Given the description of an element on the screen output the (x, y) to click on. 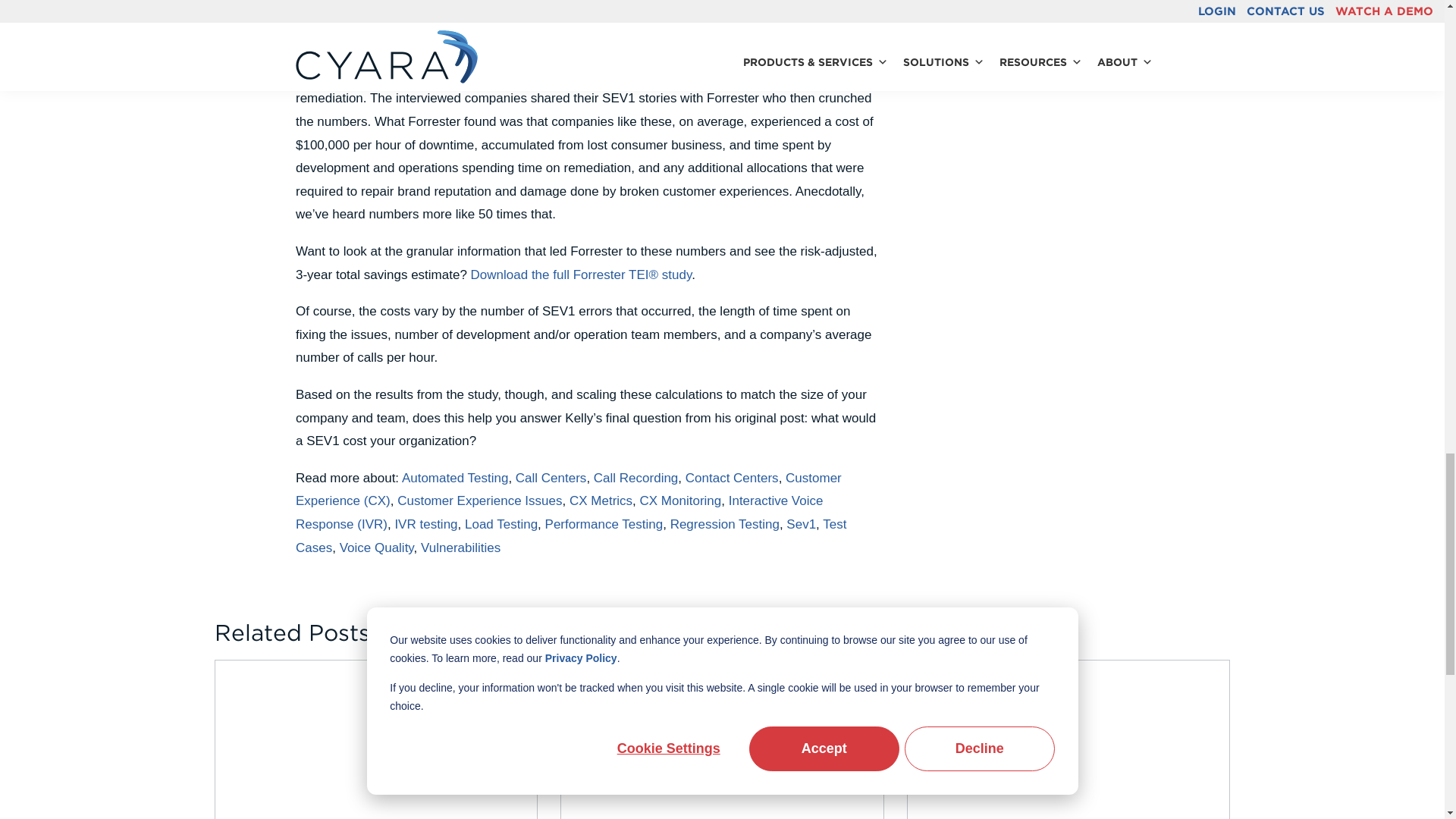
CX Monitoring (681, 500)
Sev1 (800, 523)
Automated Testing (454, 477)
Call Recording (636, 477)
Regression Testing (723, 523)
CX Metrics (600, 500)
IVR testing (425, 523)
Call Centers (550, 477)
Performance Testing (603, 523)
Contact Centers (731, 477)
Customer Experience Issues (479, 500)
Load Testing (500, 523)
